Given the description of an element on the screen output the (x, y) to click on. 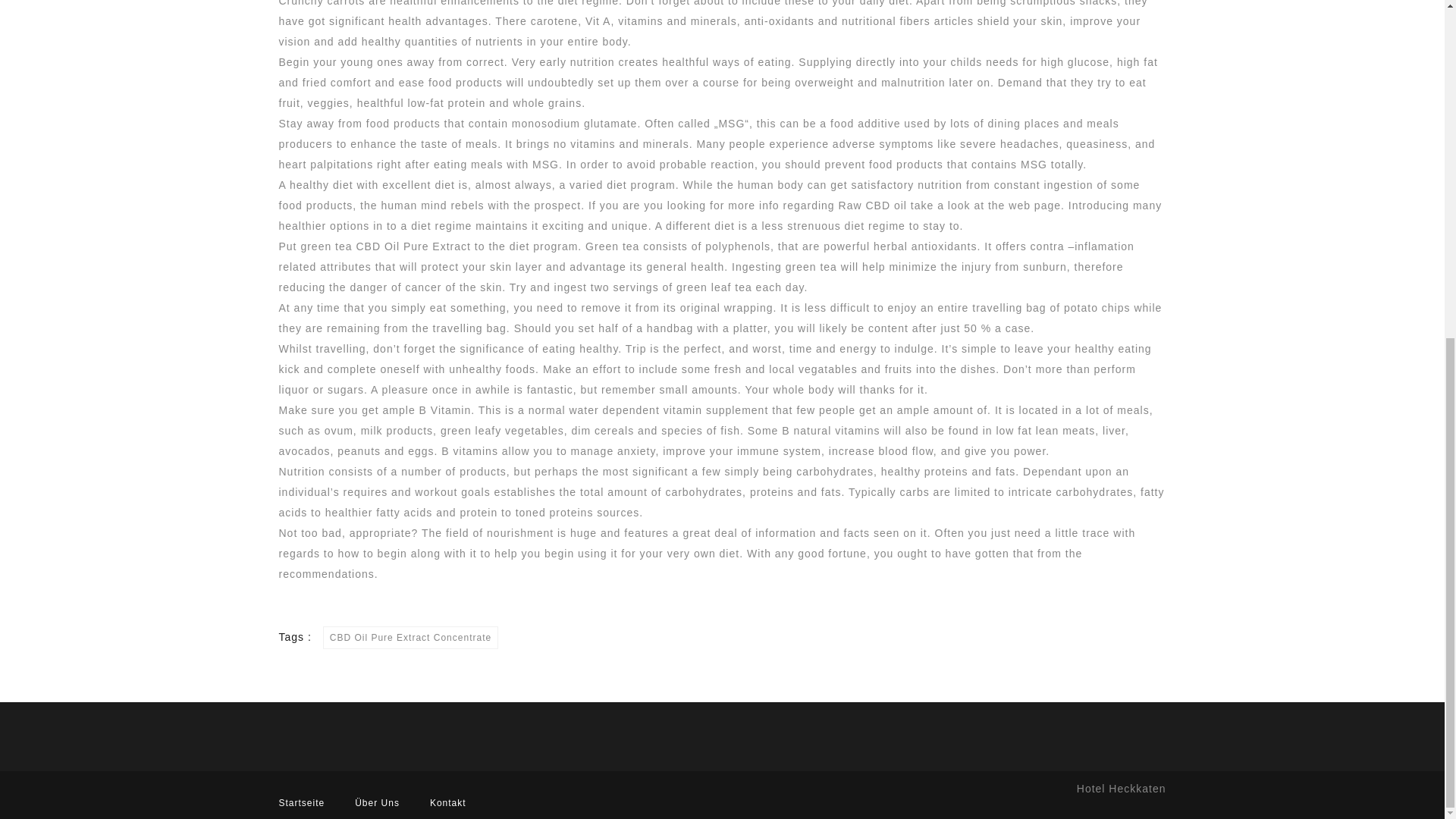
CBD Oil Pure Extract Concentrate (410, 637)
Raw CBD oil (872, 205)
CBD Oil Pure Extract (412, 246)
Startseite (301, 802)
Kontakt (447, 802)
